Given the description of an element on the screen output the (x, y) to click on. 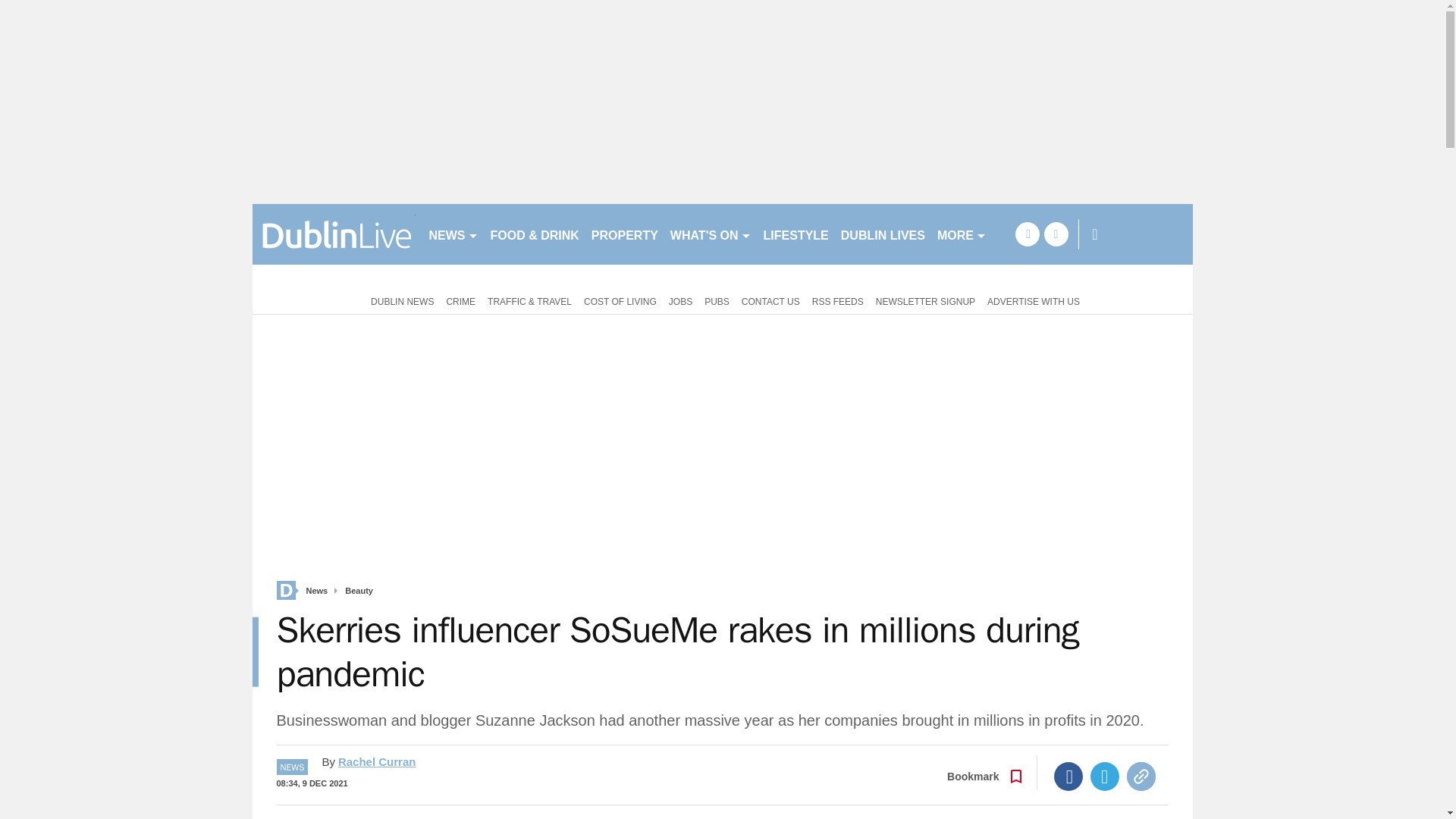
WHAT'S ON (710, 233)
dublinlive (332, 233)
Twitter (1104, 776)
NEWS (453, 233)
Facebook (1068, 776)
facebook (1026, 233)
DUBLIN LIVES (882, 233)
LIFESTYLE (795, 233)
MORE (961, 233)
twitter (1055, 233)
PROPERTY (624, 233)
